Given the description of an element on the screen output the (x, y) to click on. 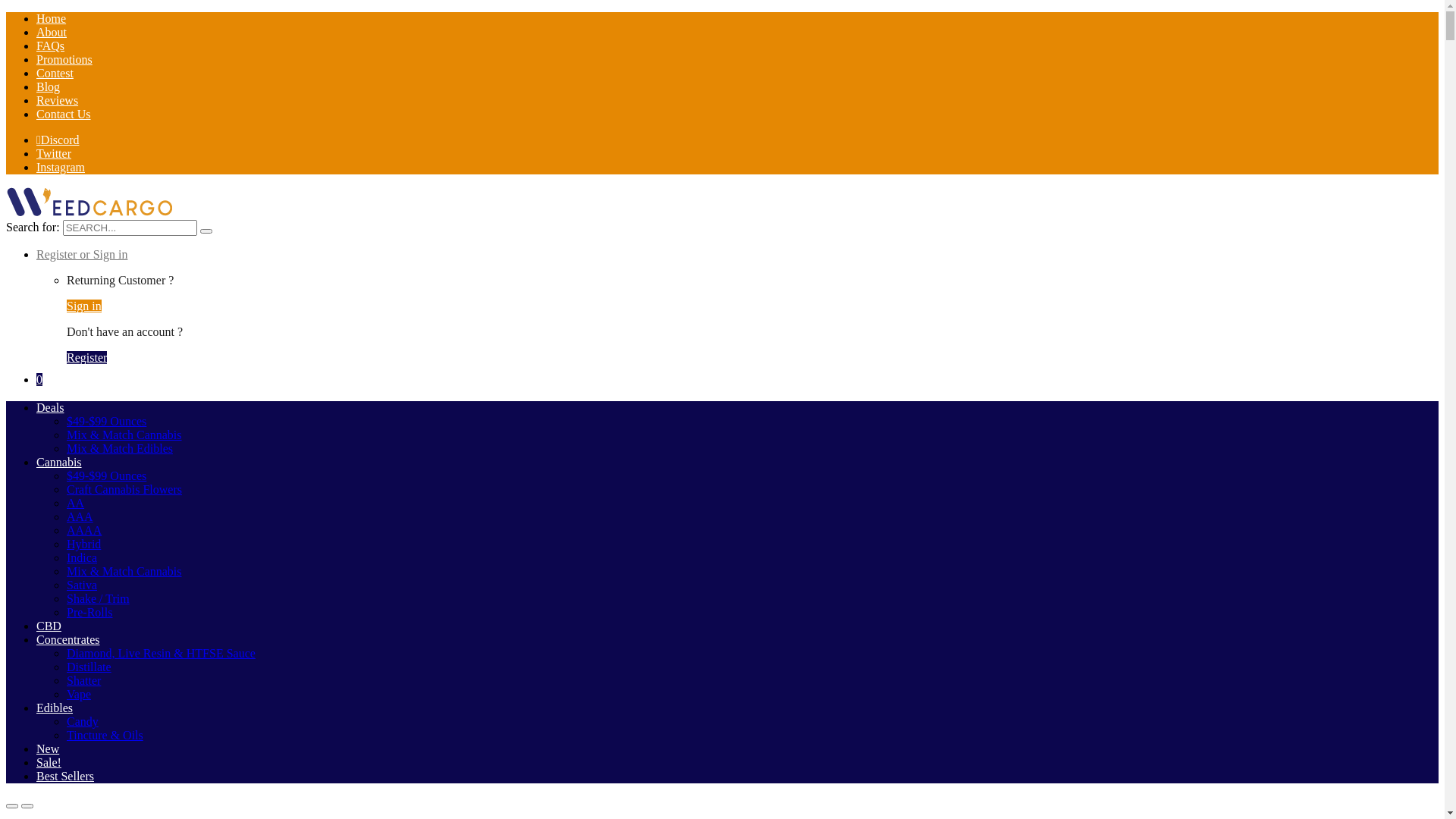
Diamond, Live Resin & HTFSE Sauce Element type: text (160, 652)
$49-$99 Ounces Element type: text (106, 475)
Indica Element type: text (81, 557)
Search Element type: text (206, 231)
Home Element type: text (50, 18)
Discord Element type: text (57, 139)
Blog Element type: text (47, 86)
New Element type: text (47, 748)
Hybrid Element type: text (83, 543)
Distillate Element type: text (88, 666)
Mix & Match Edibles Element type: text (119, 448)
$49-$99 Ounces Element type: text (106, 420)
Contest Element type: text (54, 72)
AA Element type: text (75, 502)
Twitter Element type: text (53, 153)
Instagram Element type: text (60, 166)
Craft Cannabis Flowers Element type: text (124, 489)
FAQs Element type: text (50, 45)
Pre-Rolls Element type: text (89, 611)
Cannabis Element type: text (58, 461)
Reviews Element type: text (57, 100)
Edibles Element type: text (54, 707)
Mix & Match Cannabis Element type: text (124, 434)
Shatter Element type: text (83, 680)
Mix & Match Cannabis Element type: text (124, 570)
Contact Us Element type: text (63, 113)
Promotions Element type: text (64, 59)
Sale! Element type: text (48, 762)
AAA Element type: text (79, 516)
Vape Element type: text (78, 693)
Tincture & Oils Element type: text (104, 734)
Best Sellers Element type: text (65, 775)
Concentrates Element type: text (68, 639)
AAAA Element type: text (83, 530)
0 Element type: text (39, 379)
Shake / Trim Element type: text (97, 598)
Register Element type: text (86, 357)
Sign in Element type: text (83, 305)
CBD Element type: text (48, 625)
Candy Element type: text (82, 721)
Register or Sign in Element type: text (81, 253)
Deals Element type: text (49, 407)
About Element type: text (51, 31)
Sativa Element type: text (81, 584)
